Given the description of an element on the screen output the (x, y) to click on. 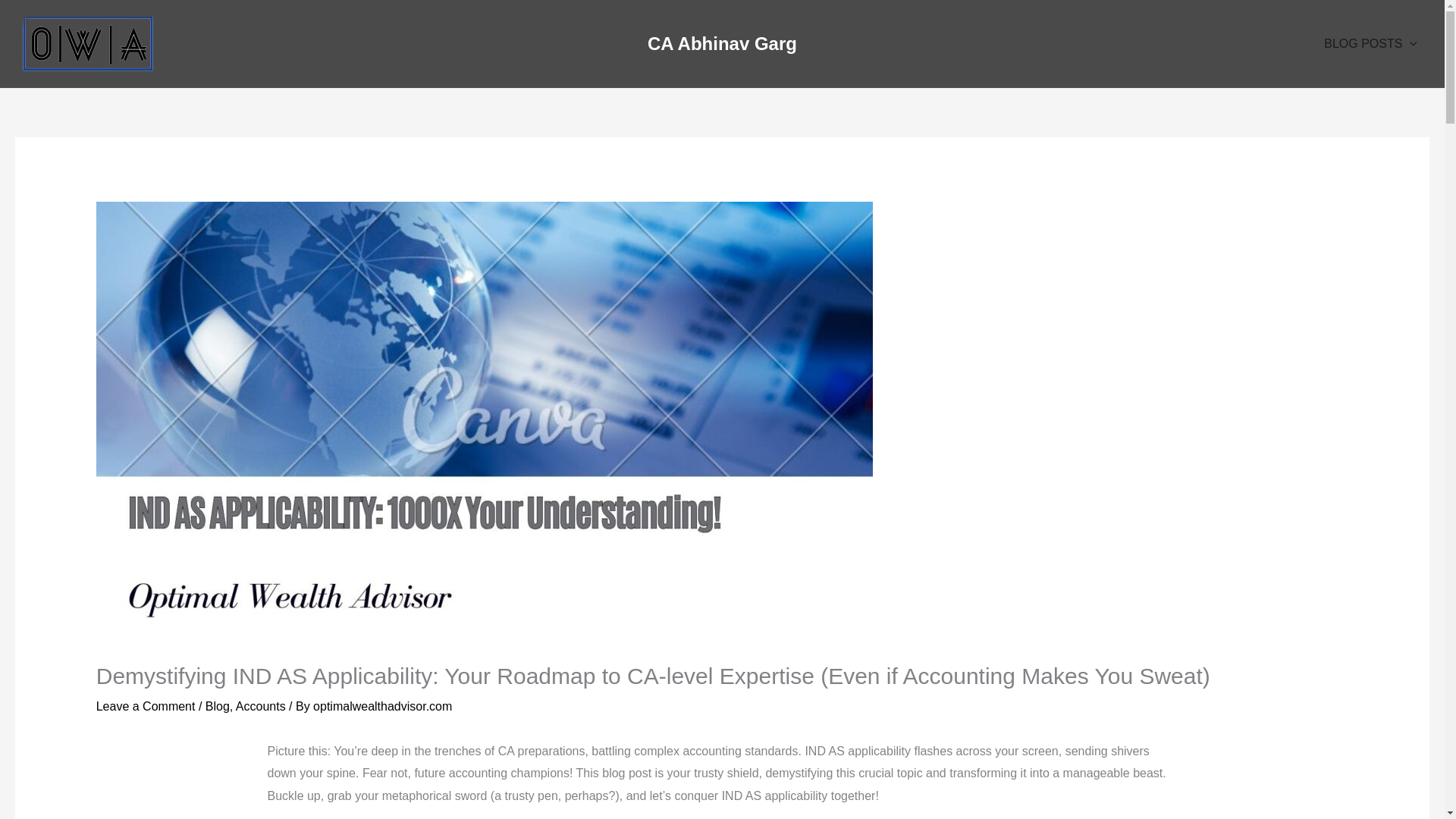
Accounts (260, 706)
BLOG POSTS (1370, 44)
Blog (217, 706)
View all posts by optimalwealthadvisor.com (382, 706)
optimalwealthadvisor.com (382, 706)
Leave a Comment (145, 706)
